Given the description of an element on the screen output the (x, y) to click on. 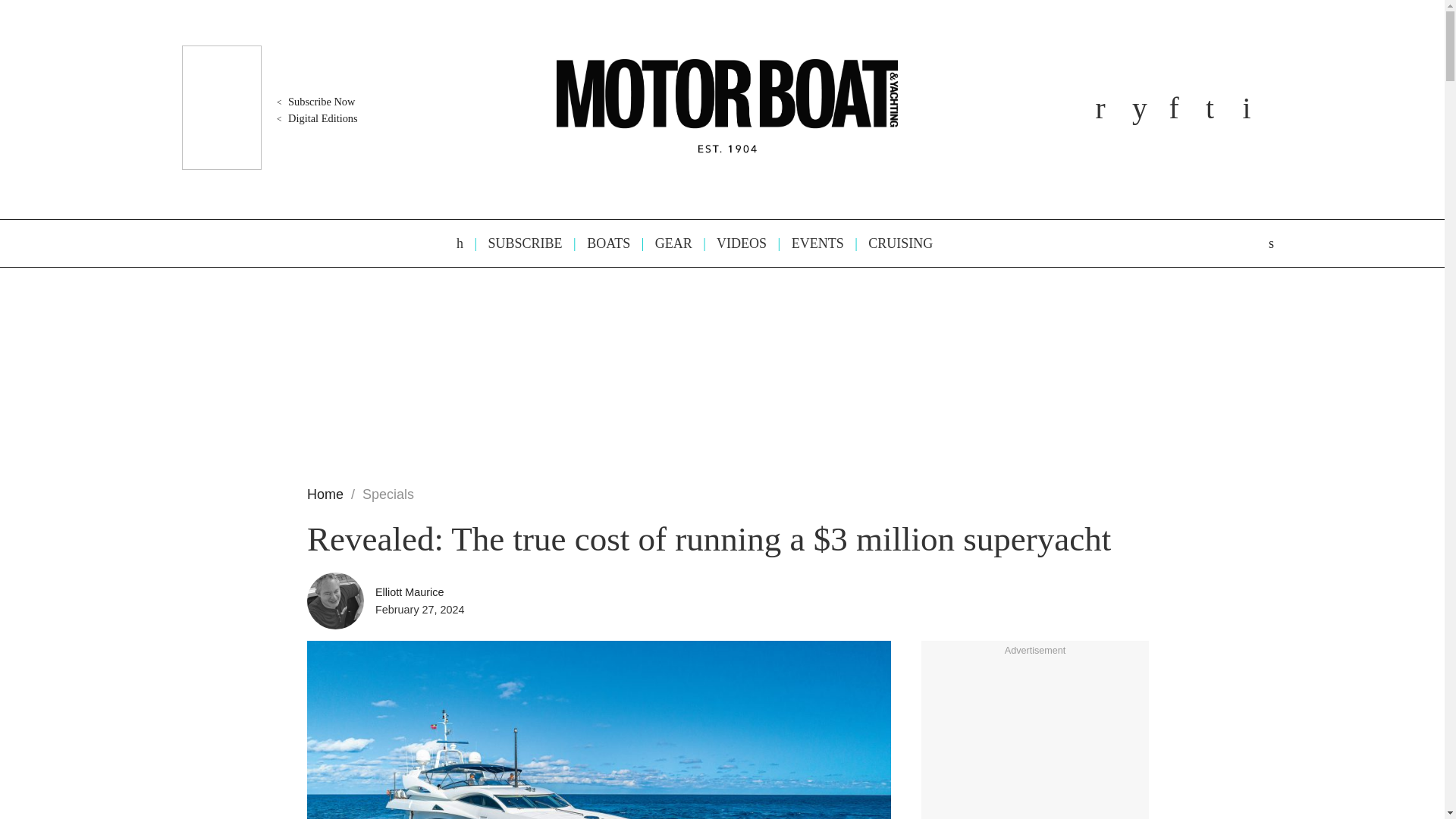
BOATS (601, 243)
GEAR (666, 243)
SUBSCRIBE (518, 243)
Digital Editions (315, 118)
EVENTS (810, 243)
CRUISING (893, 243)
Subscribe Now (314, 101)
VIDEOS (734, 243)
